Given the description of an element on the screen output the (x, y) to click on. 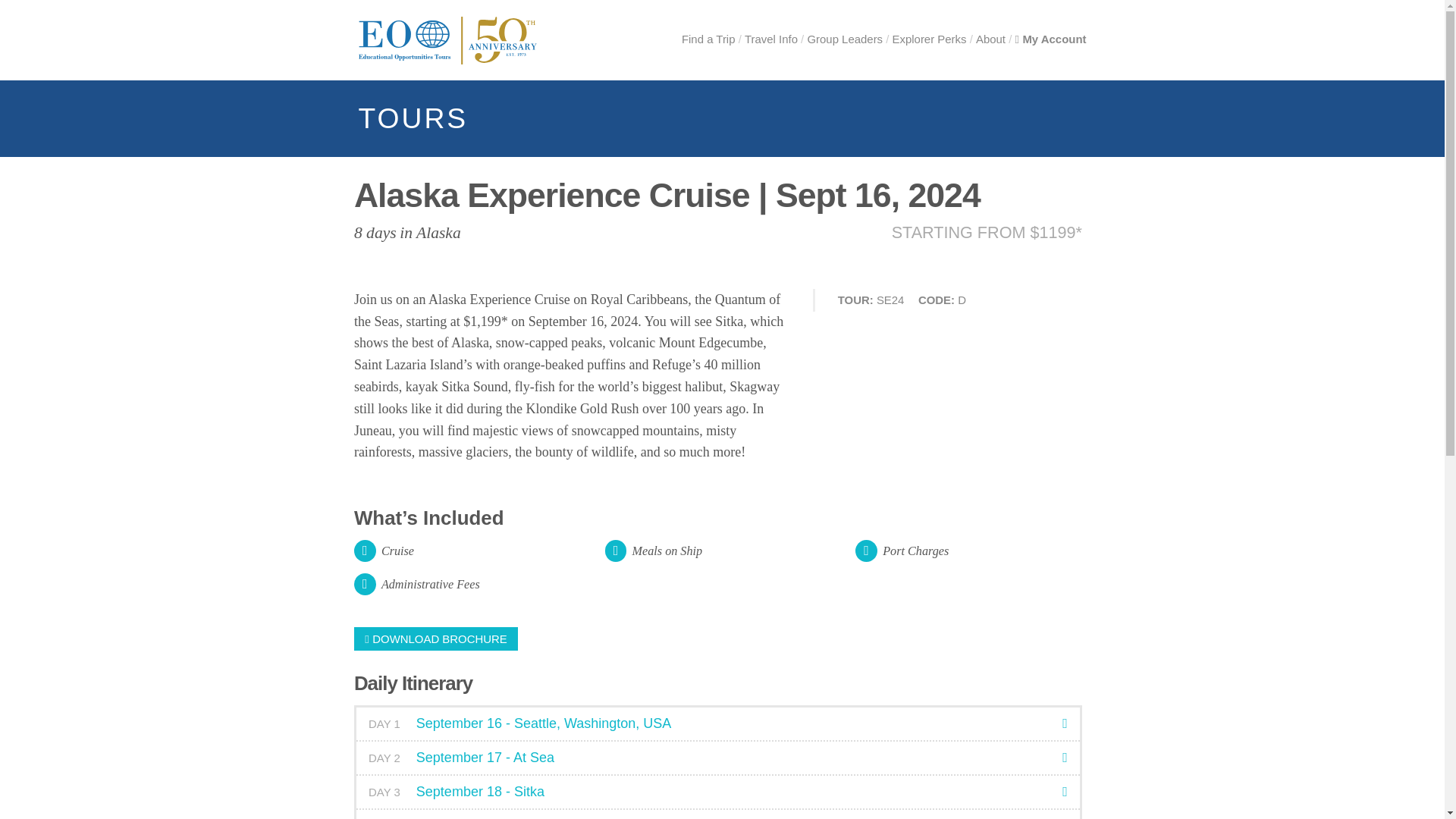
Travel Info (770, 38)
Educational Opportunities Tours (456, 40)
Find a Trip (708, 38)
Group Leaders (844, 38)
DOWNLOAD BROCHURE (435, 638)
My Account (1050, 38)
Explorer Perks (929, 38)
About (990, 38)
